Given the description of an element on the screen output the (x, y) to click on. 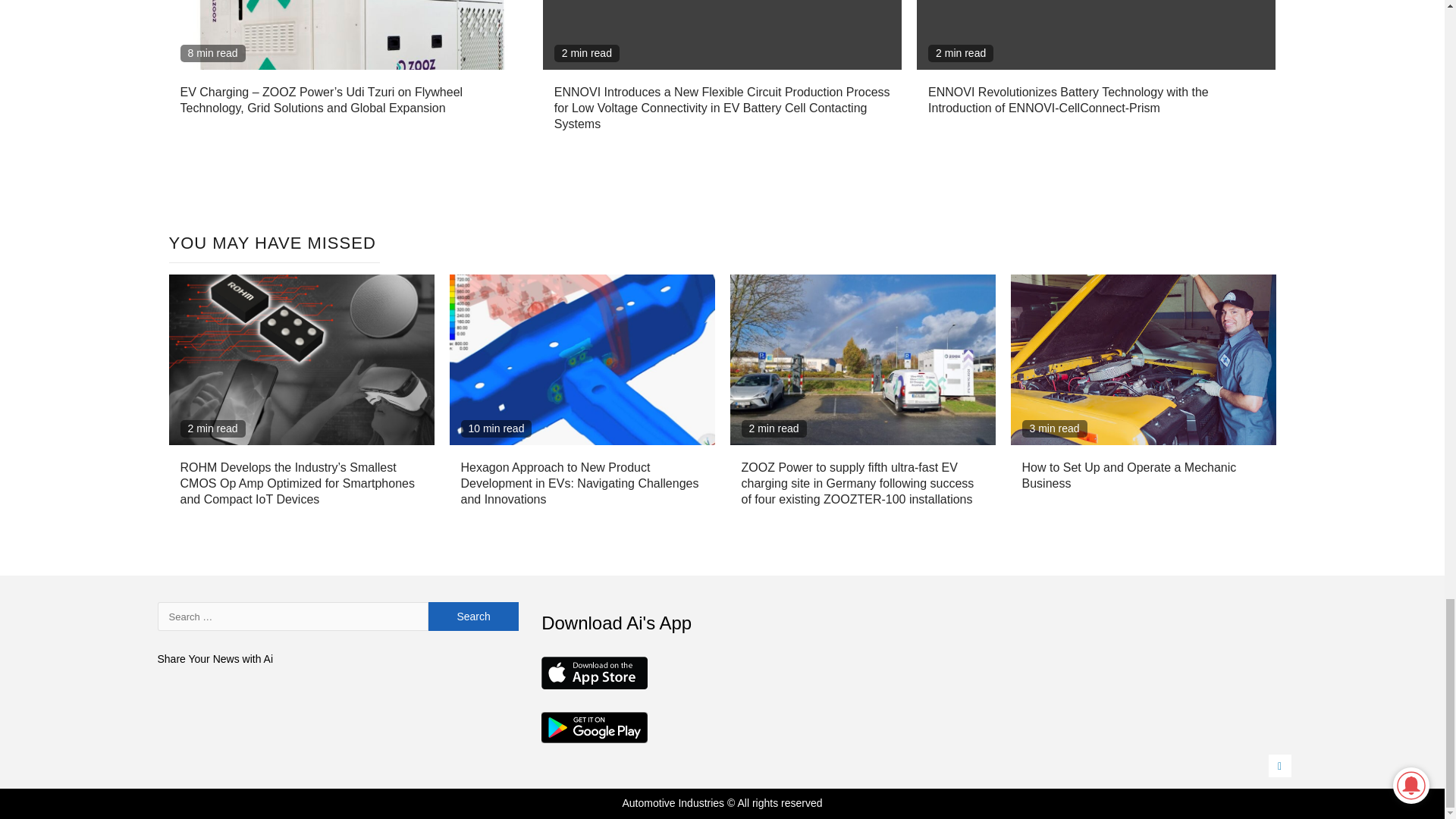
Search (473, 615)
Search (473, 615)
